Given the description of an element on the screen output the (x, y) to click on. 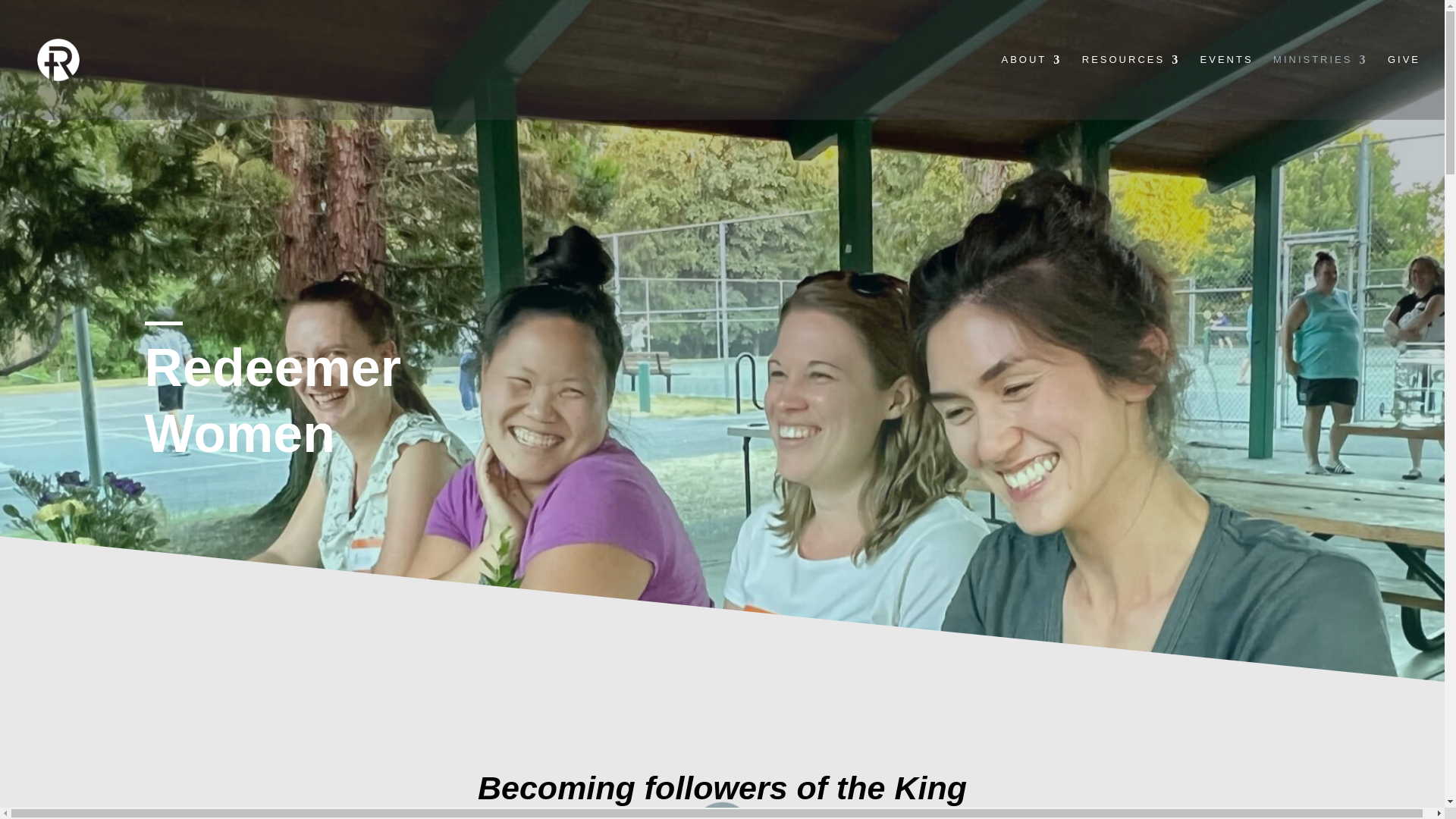
ABOUT (1031, 86)
MINISTRIES (1319, 86)
RESOURCES (1130, 86)
